Given the description of an element on the screen output the (x, y) to click on. 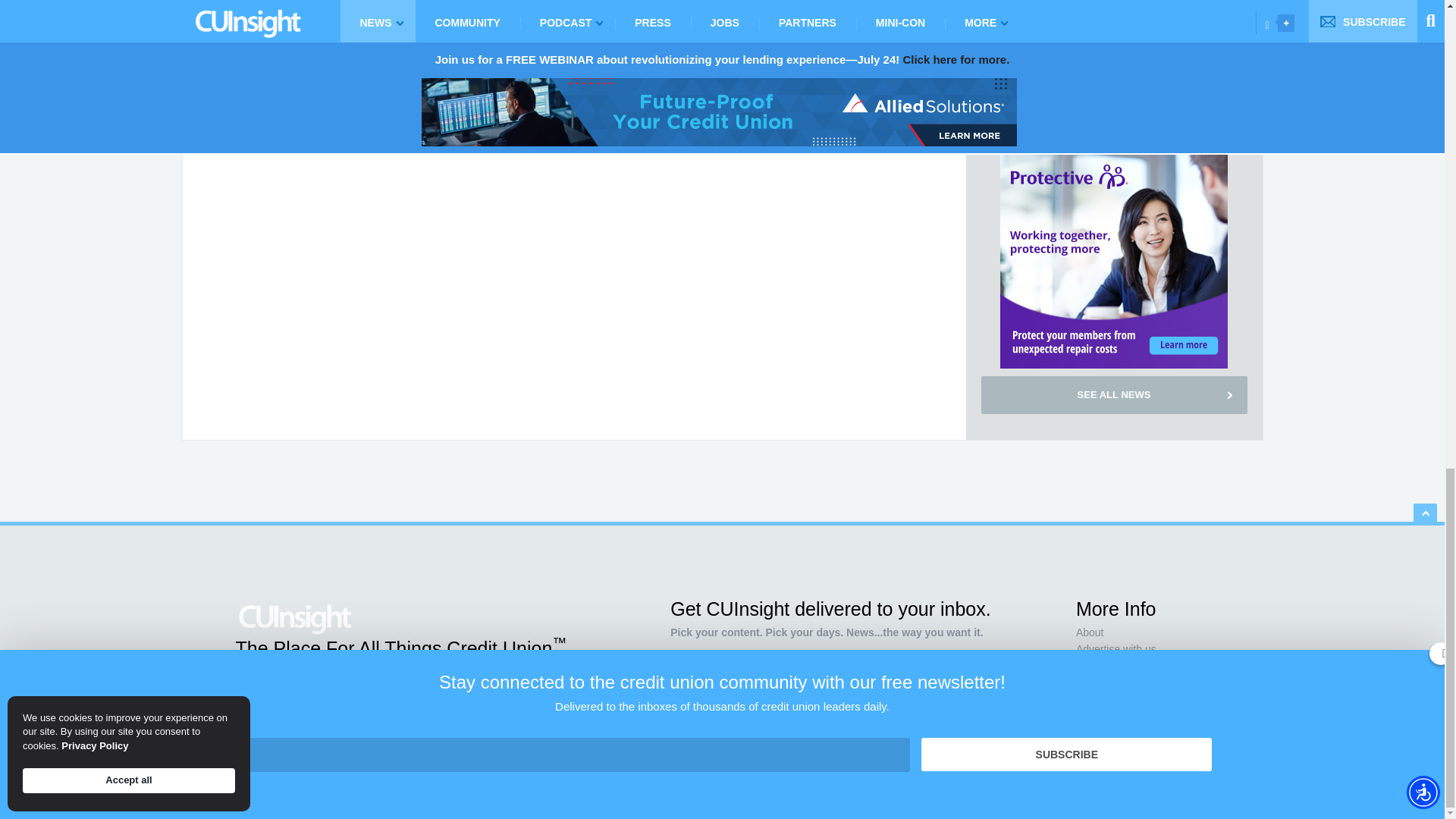
Subscribe (909, 716)
Why financial institutions should offer automated loan skips (1104, 119)
